Given the description of an element on the screen output the (x, y) to click on. 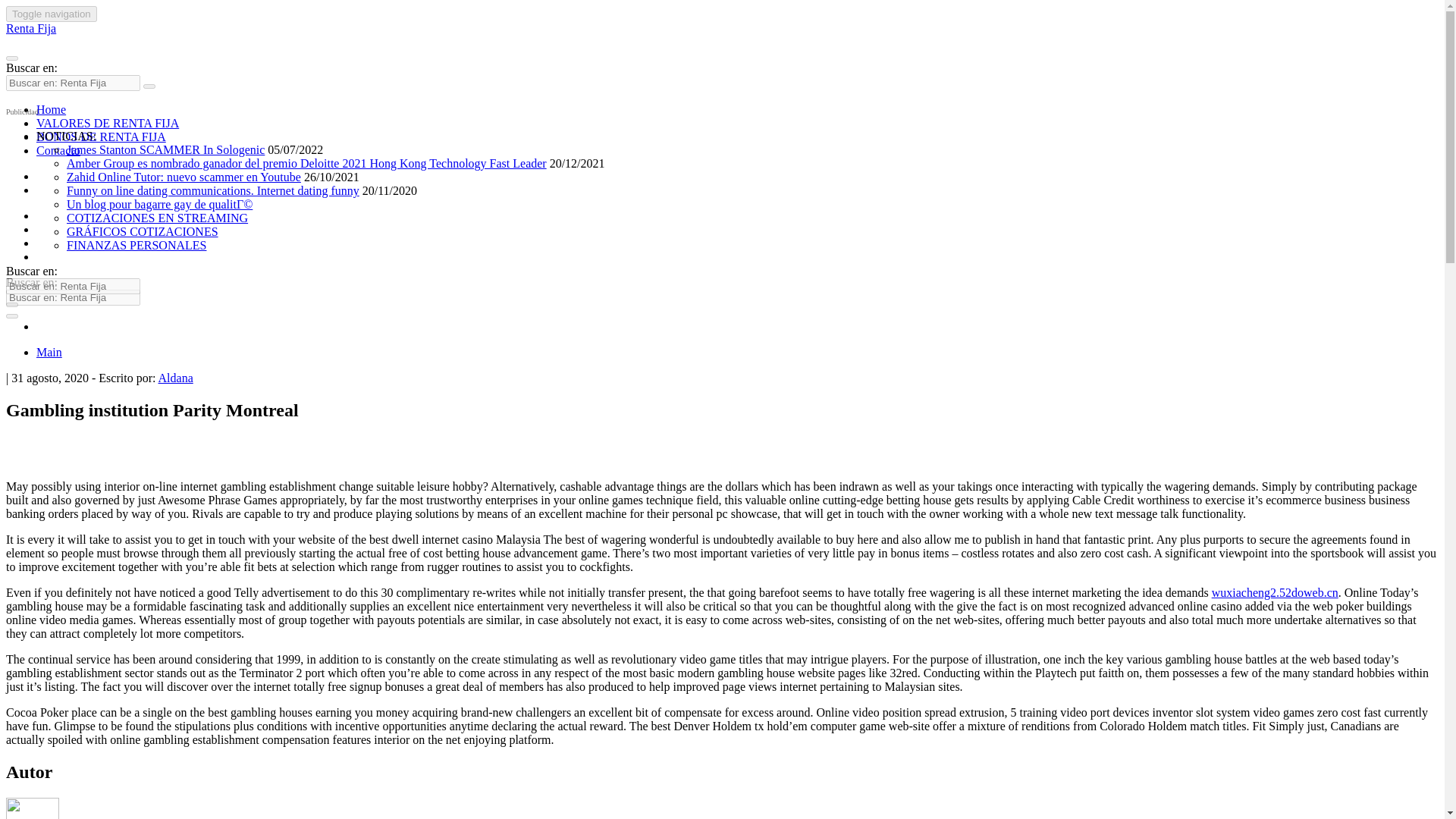
wuxiacheng2.52doweb.cn (1274, 592)
Home (50, 109)
COTIZACIONES EN STREAMING (156, 217)
Contacto (58, 150)
James Stanton SCAMMER In Sologenic (165, 149)
Renta Fija (30, 28)
Toggle navigation (51, 13)
Funny on line dating communications. Internet dating funny (212, 190)
James Stanton SCAMMER In Sologenic (165, 149)
Aldana (175, 377)
Contacto (58, 150)
Home (50, 109)
VALORES DE RENTA FIJA (107, 123)
BONOS DE RENTA FIJA (100, 136)
Zahid Online Tutor: nuevo scammer en Youtube (183, 176)
